Given the description of an element on the screen output the (x, y) to click on. 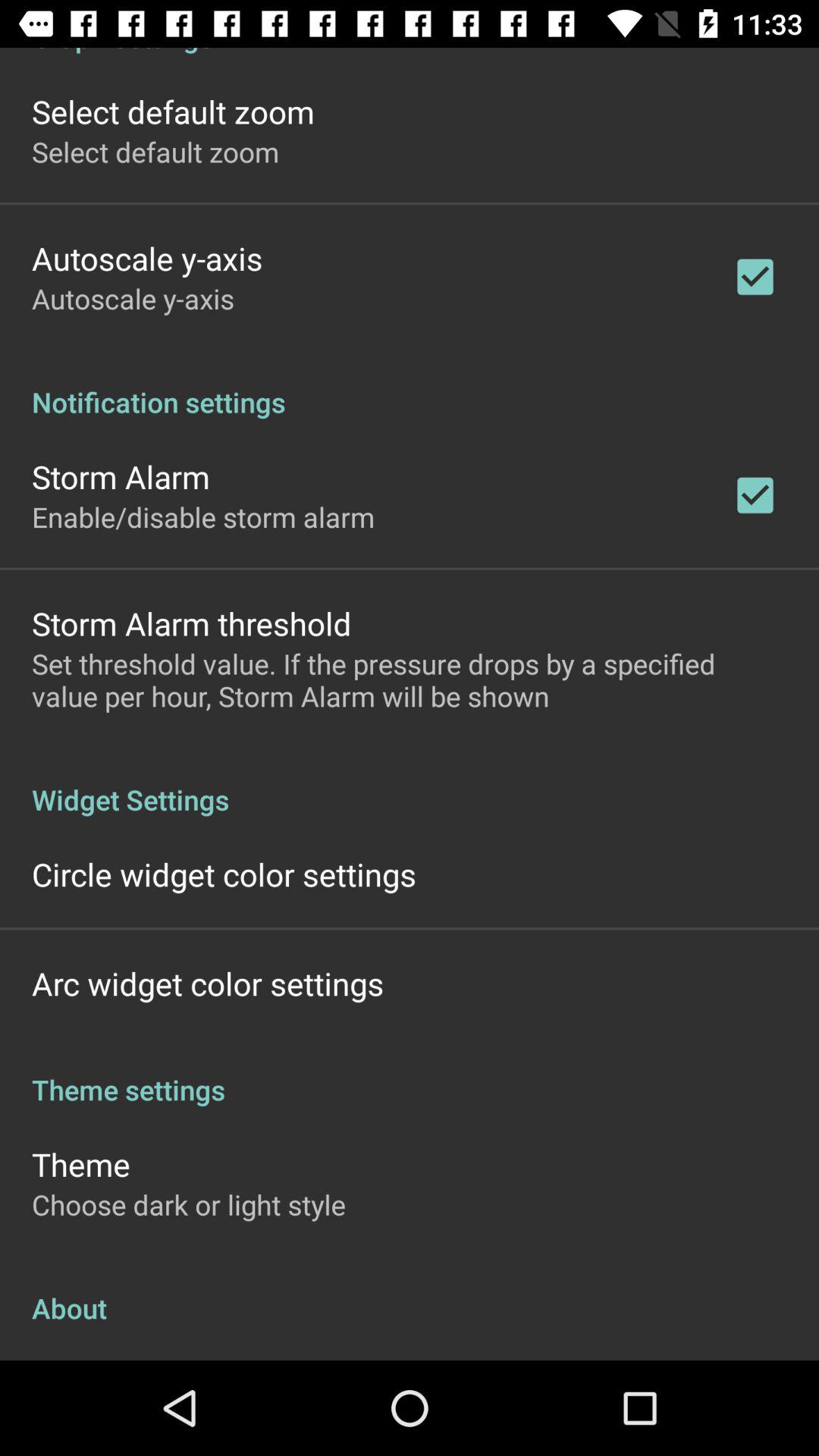
scroll until the graph settings app (409, 51)
